Given the description of an element on the screen output the (x, y) to click on. 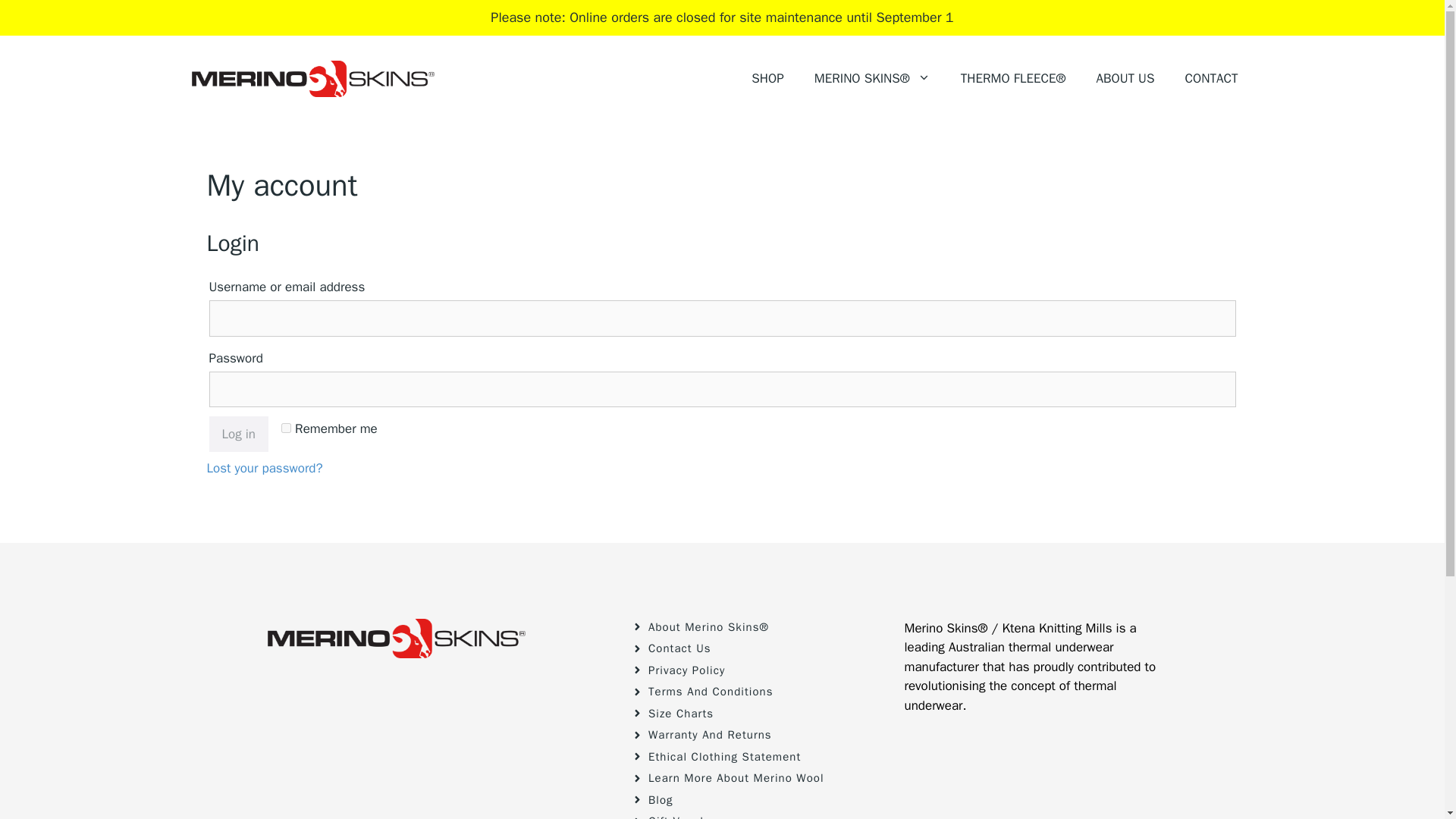
Terms And Conditions (710, 691)
Log in (239, 434)
ABOUT US (1124, 78)
Gift Vouchers (686, 816)
Learn More About Merino Wool (735, 777)
Privacy Policy (686, 669)
Ethical Clothing Statement (723, 755)
SHOP (766, 78)
forever (286, 428)
Warranty And Returns (709, 735)
